Given the description of an element on the screen output the (x, y) to click on. 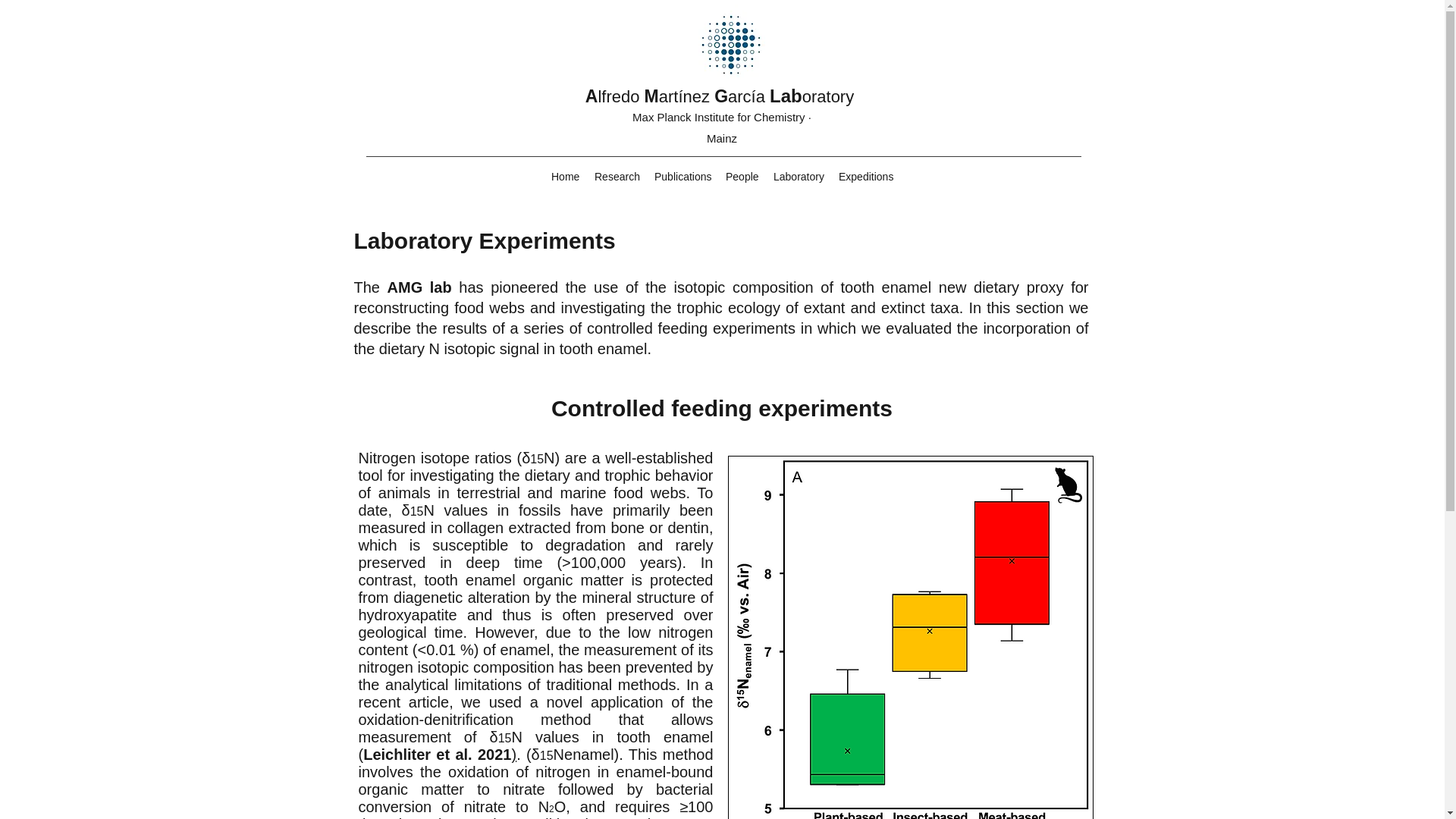
Laboratory (798, 176)
Publications (681, 176)
People (741, 176)
Home (564, 176)
Expeditions (866, 176)
Research (616, 176)
Leichliter et al. 2021 (436, 754)
